Given the description of an element on the screen output the (x, y) to click on. 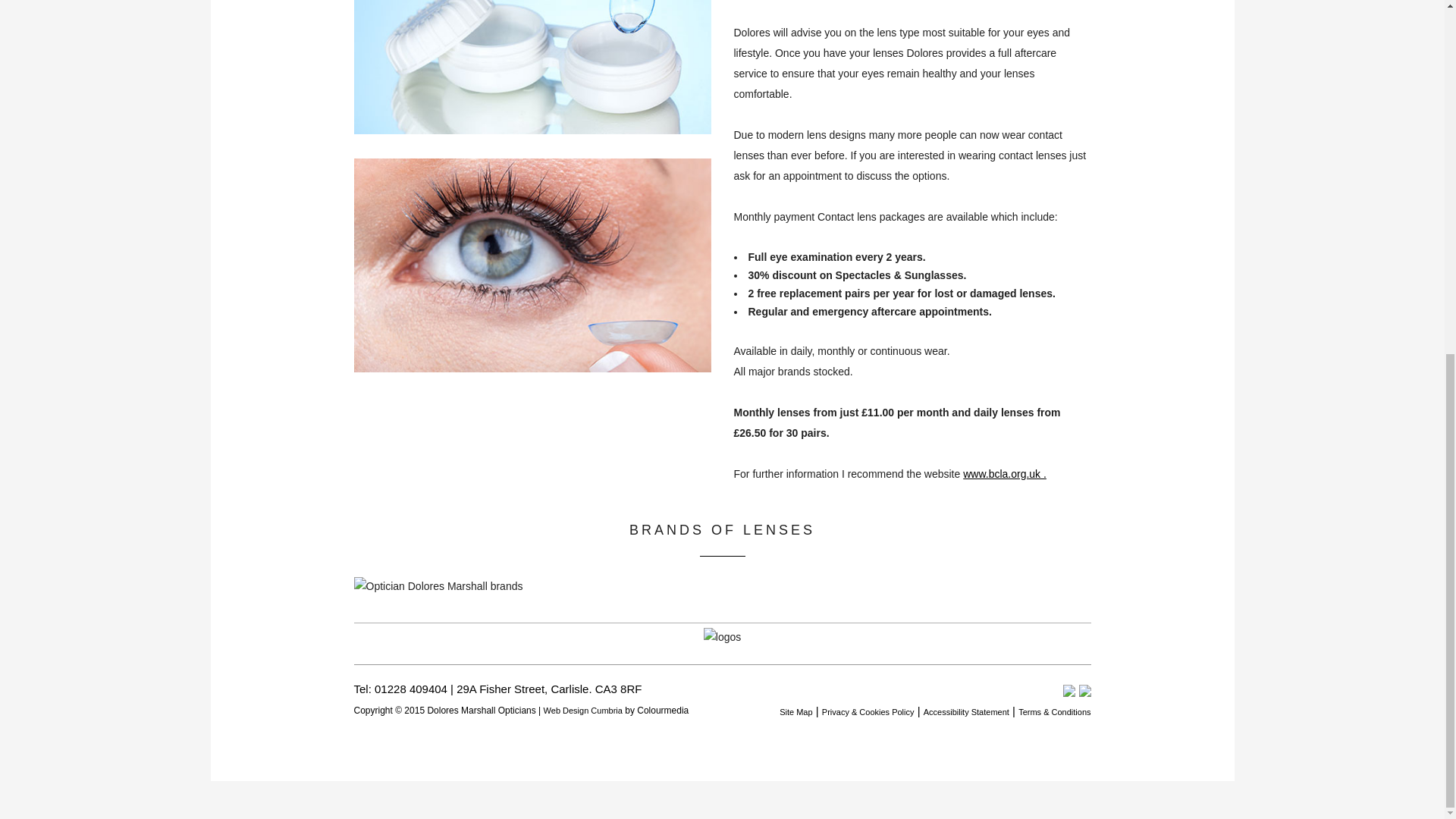
Site Map (795, 711)
Accessibility Statement (966, 711)
www.bcla.org.uk . (1004, 473)
Web Design Cumbria (583, 709)
